Given the description of an element on the screen output the (x, y) to click on. 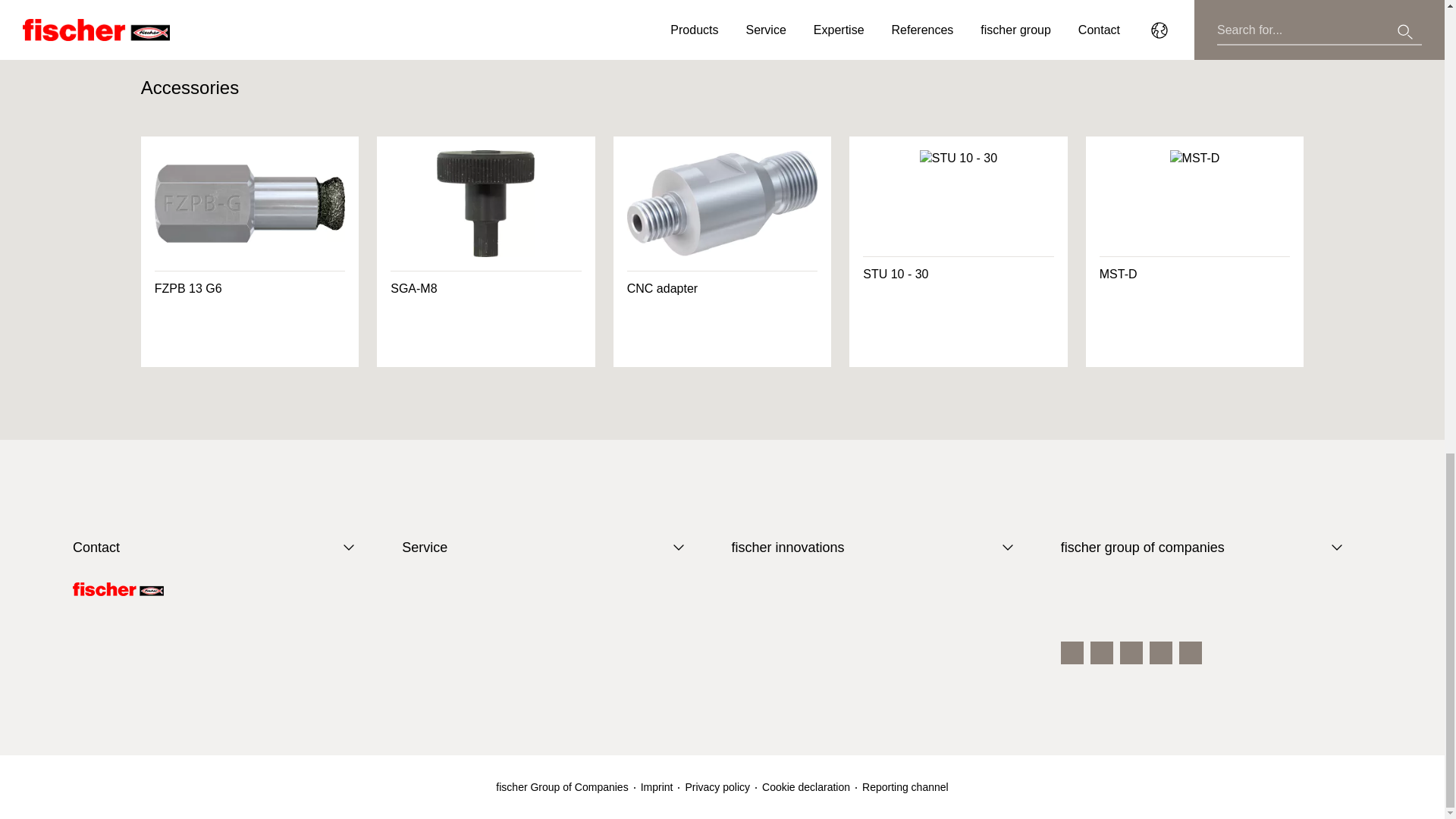
MST-D (1195, 251)
STU 10 - 30 (957, 251)
SGA-M8 (486, 251)
FZPB 13 G6 (250, 251)
CNC adapter (721, 251)
